Given the description of an element on the screen output the (x, y) to click on. 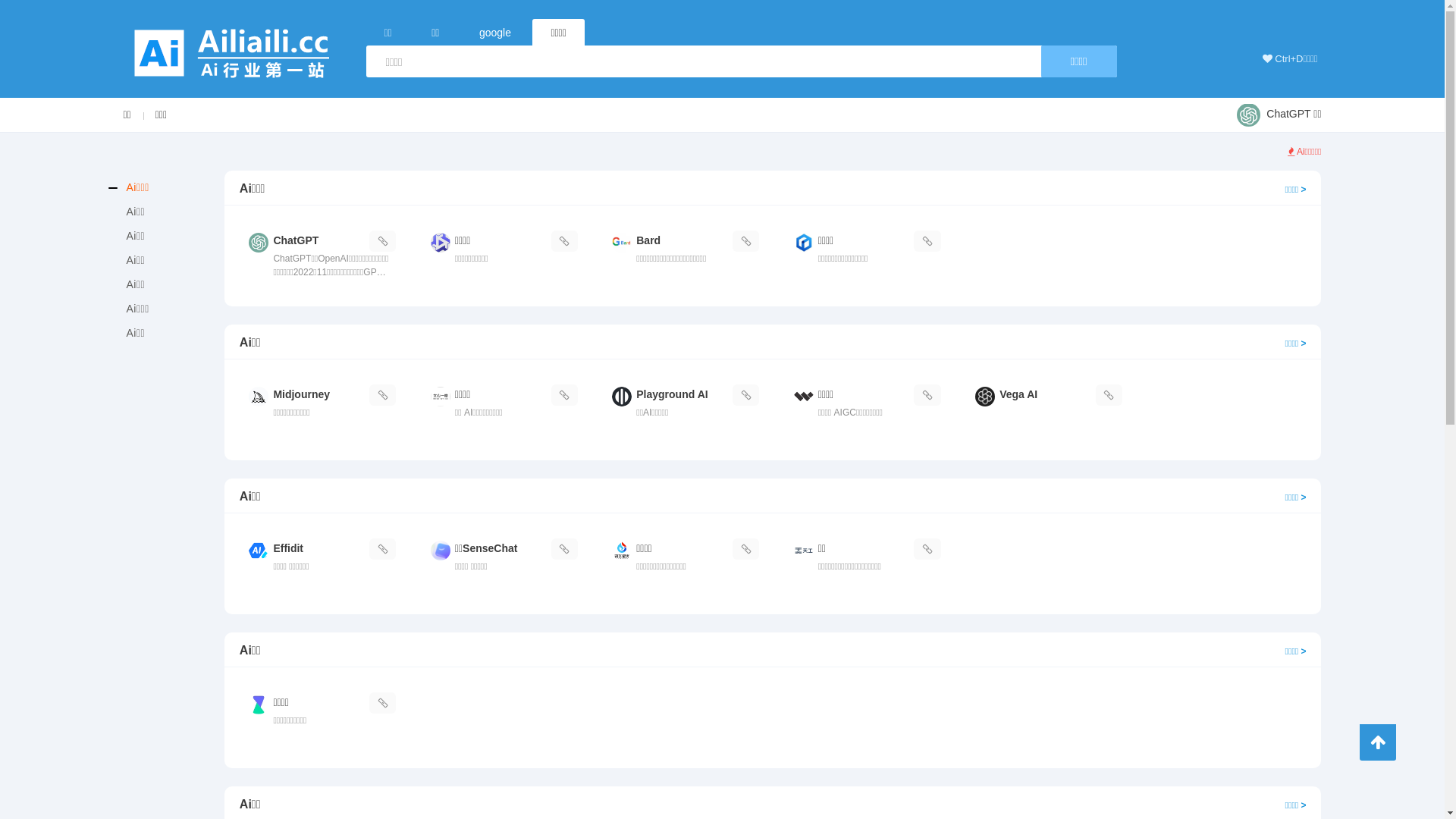
Vega AI Element type: text (1045, 409)
Ailiaili Element type: hover (231, 49)
